Given the description of an element on the screen output the (x, y) to click on. 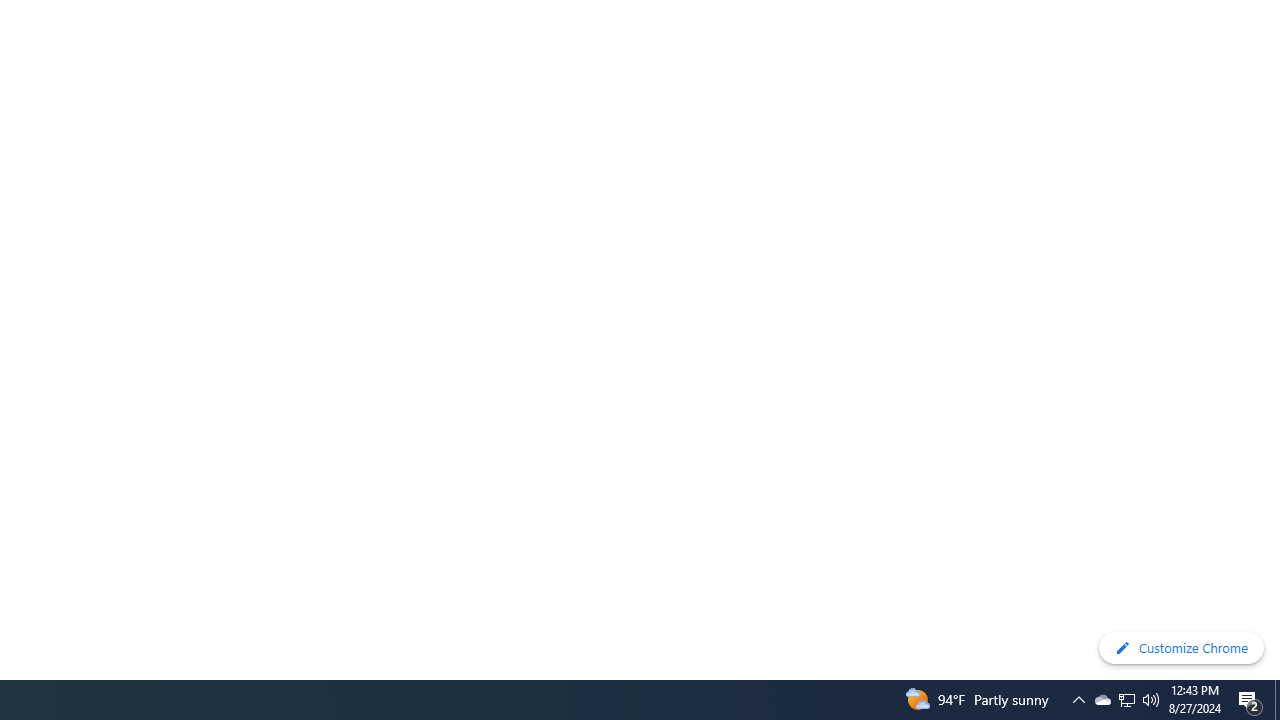
Customize Chrome (1181, 647)
